Given the description of an element on the screen output the (x, y) to click on. 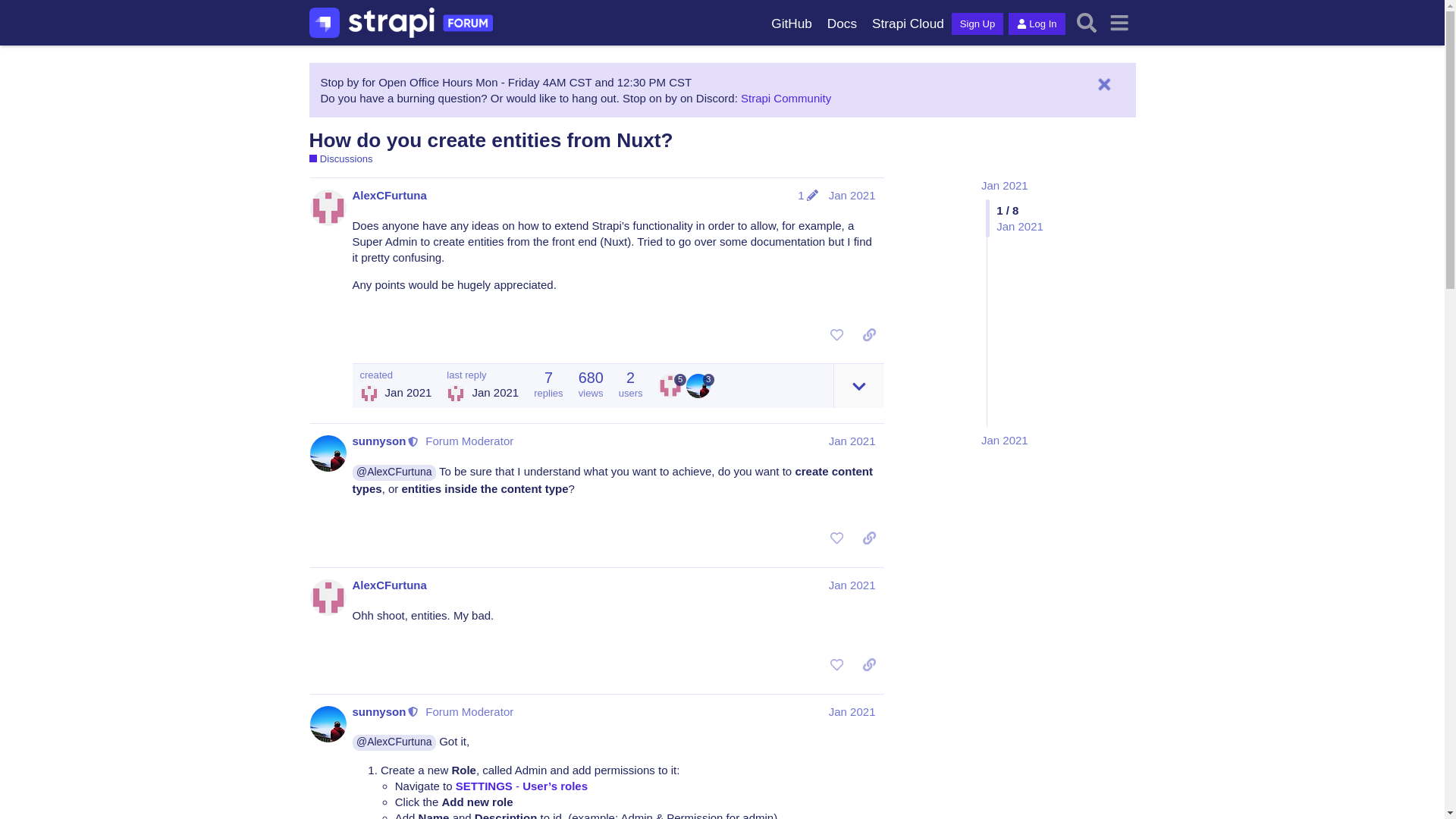
expand topic details (857, 385)
Strapi Cloud (908, 23)
Join the Cloud Waitlist (908, 23)
Docs (841, 23)
post last edited on Jan 9, 2021 12:21 am (807, 195)
Jan 2021 (1004, 185)
sunnyson (379, 440)
Strapi Community (786, 97)
Strapi GitHub (790, 23)
Jan 15, 2021 5:59 pm (1004, 440)
last reply (482, 375)
AlexCFurtuna (368, 393)
1 (807, 195)
Search (1086, 22)
